Given the description of an element on the screen output the (x, y) to click on. 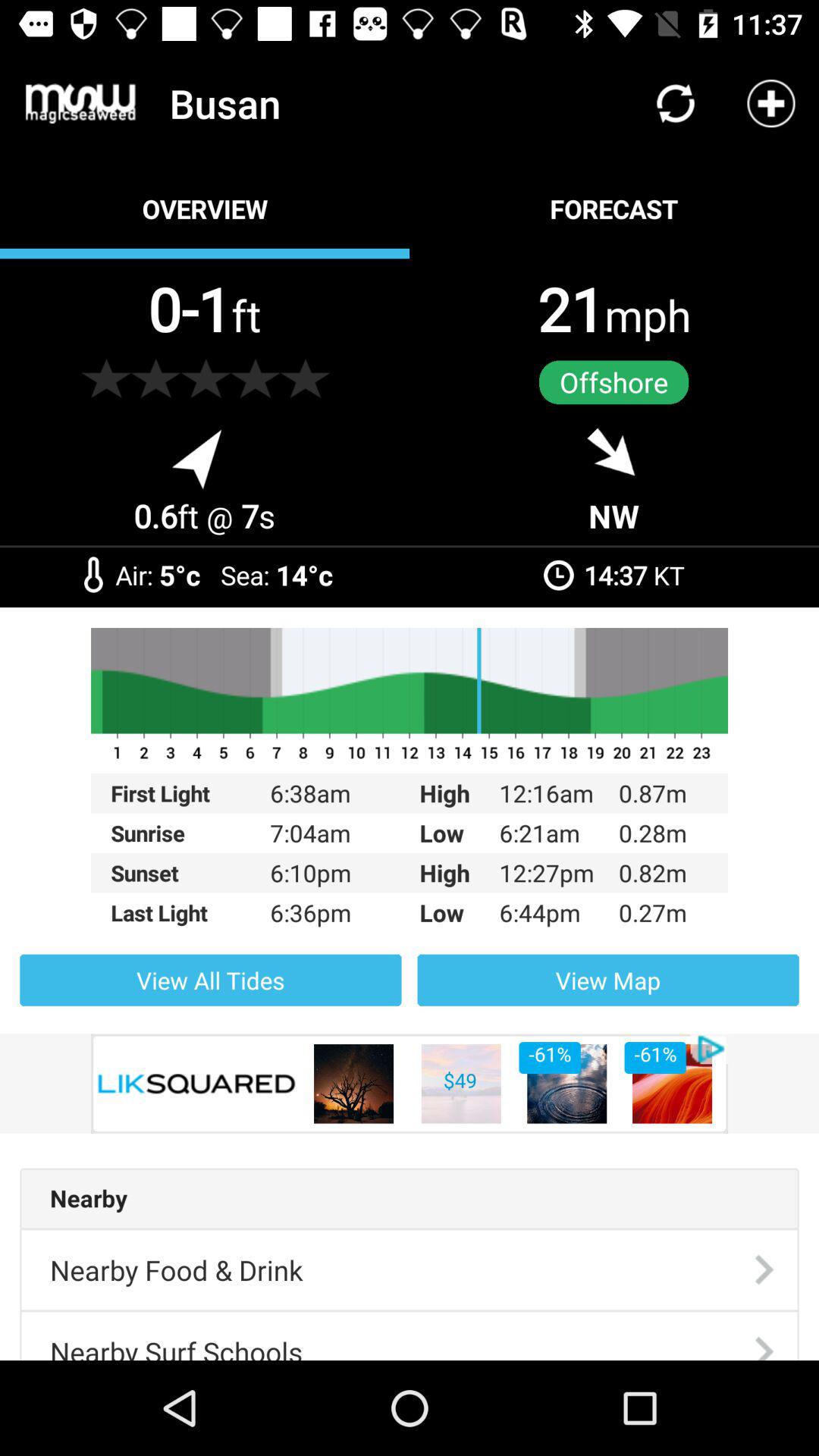
turn off the item below view all tides (409, 1083)
